Given the description of an element on the screen output the (x, y) to click on. 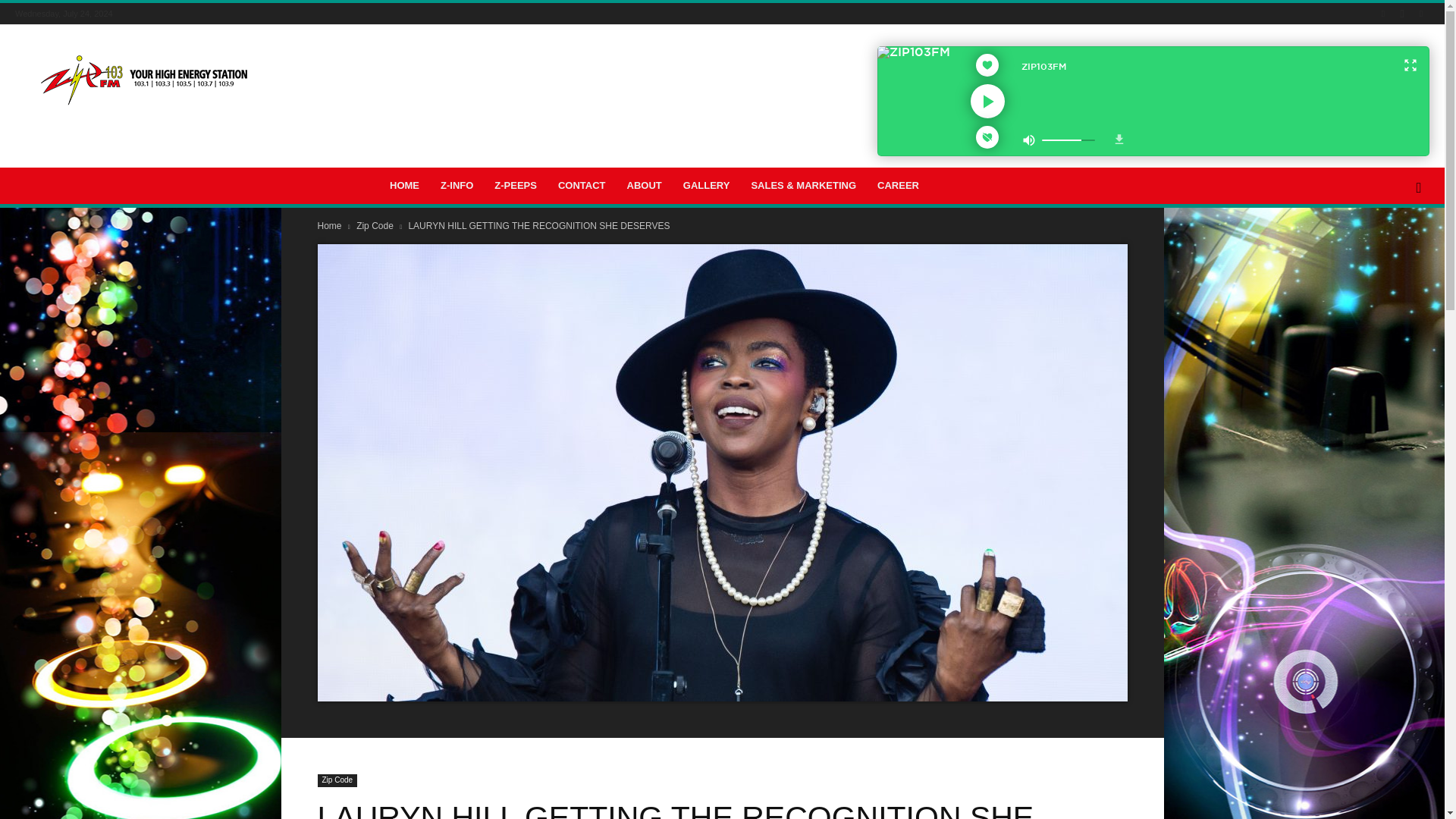
Z-INFO (456, 185)
HOME (403, 185)
CAREER (898, 185)
View all posts in Zip Code (376, 225)
Zip Code (336, 780)
GALLERY (706, 185)
Search (1394, 250)
CONTACT (581, 185)
103.1, 103.3, 103.5, 103.7, 103.9 (143, 79)
Home (328, 225)
Zip Code (376, 225)
Z-PEEPS (515, 185)
ABOUT (643, 185)
